Given the description of an element on the screen output the (x, y) to click on. 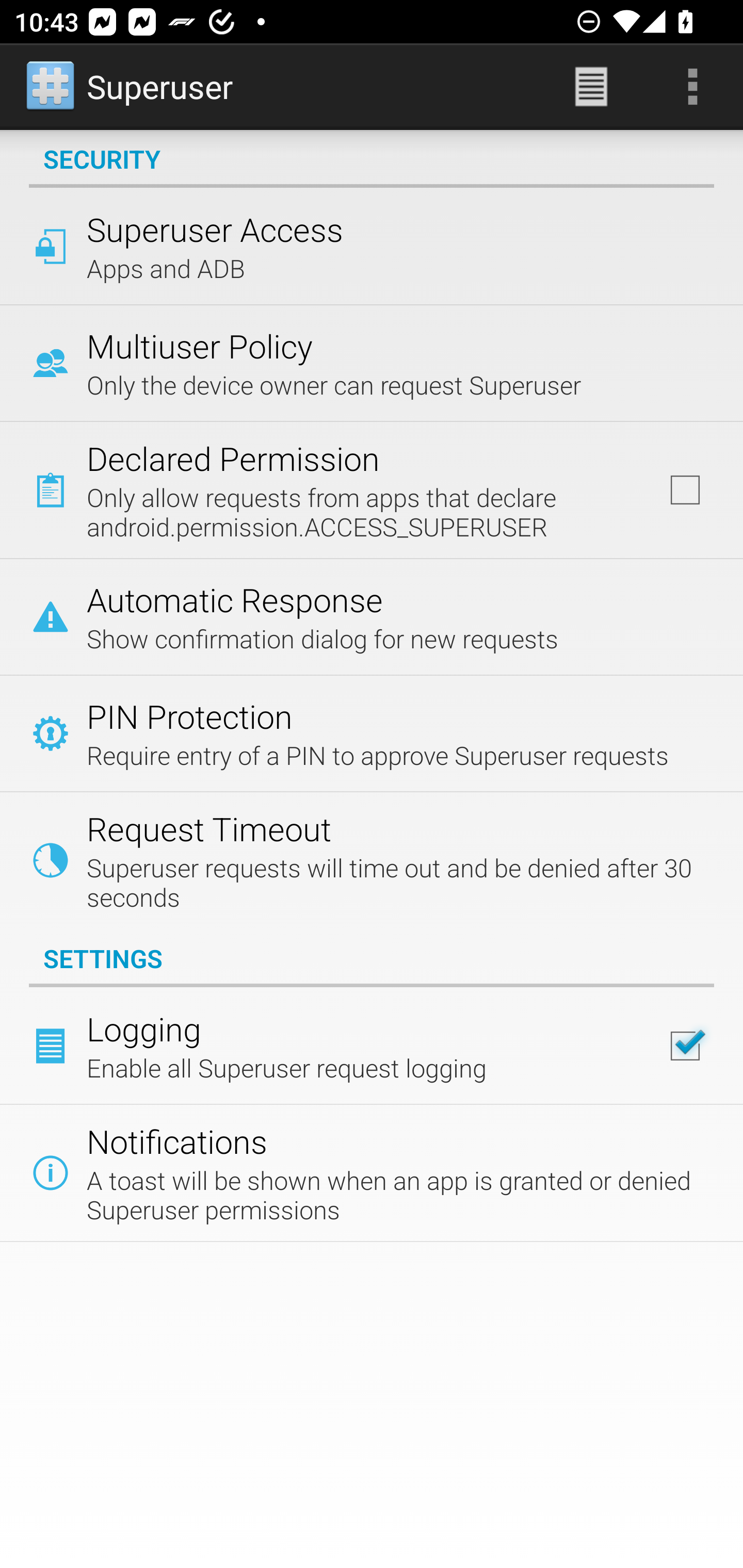
Superuser (130, 86)
Logs (590, 86)
More options (692, 86)
Superuser Access Apps and ADB (371, 246)
Logging Enable all Superuser request logging (371, 1045)
